Given the description of an element on the screen output the (x, y) to click on. 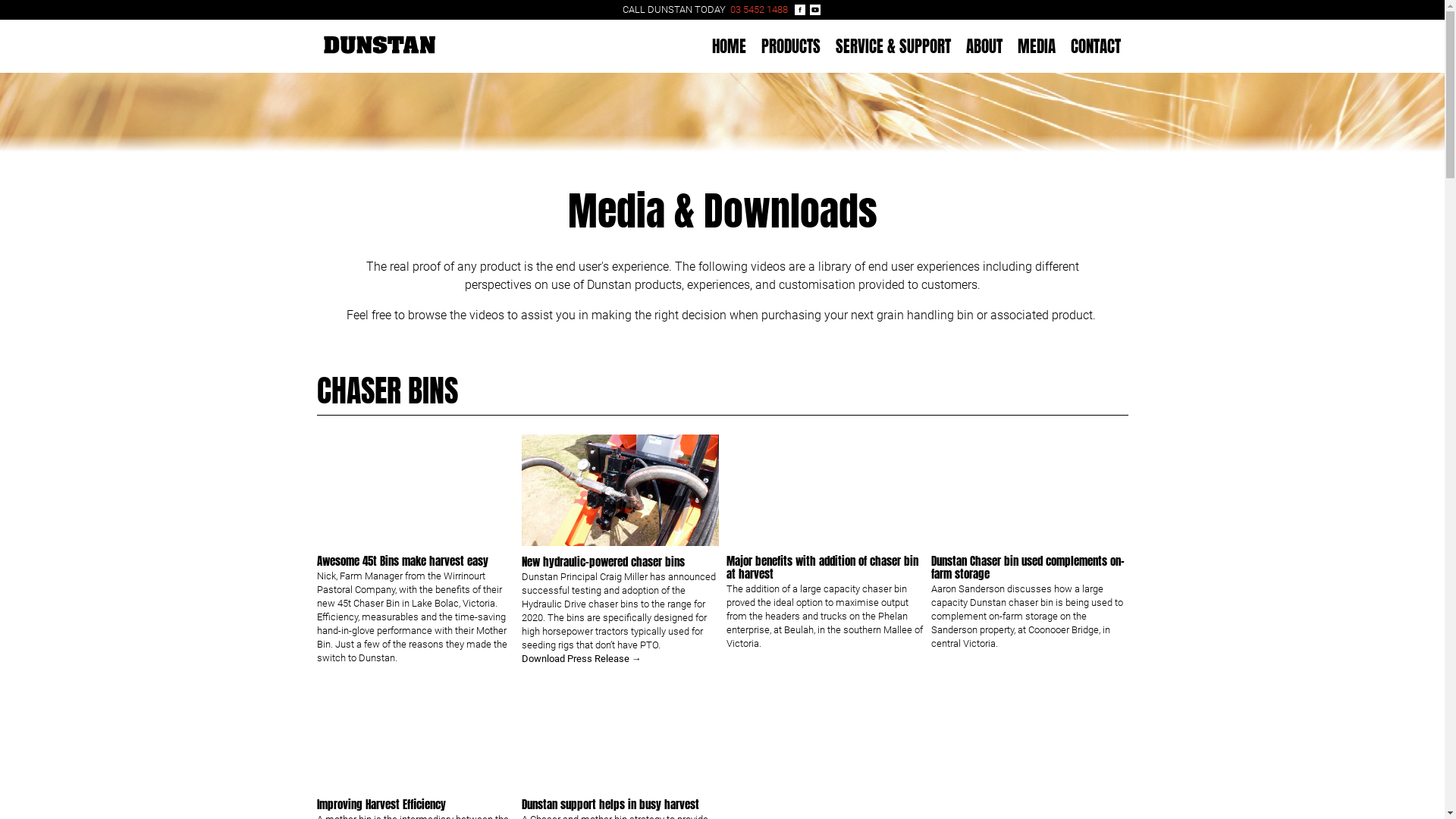
CHASER BINS Element type: text (387, 390)
CONTACT Element type: text (1095, 46)
SERVICE & SUPPORT Element type: text (893, 46)
MEDIA Element type: text (1036, 46)
Dunstan Facebook Element type: text (799, 9)
Dunstan YouTube Element type: text (814, 9)
ABOUT Element type: text (984, 46)
HOME Element type: text (728, 46)
03 5452 1488 Element type: text (758, 9)
